Given the description of an element on the screen output the (x, y) to click on. 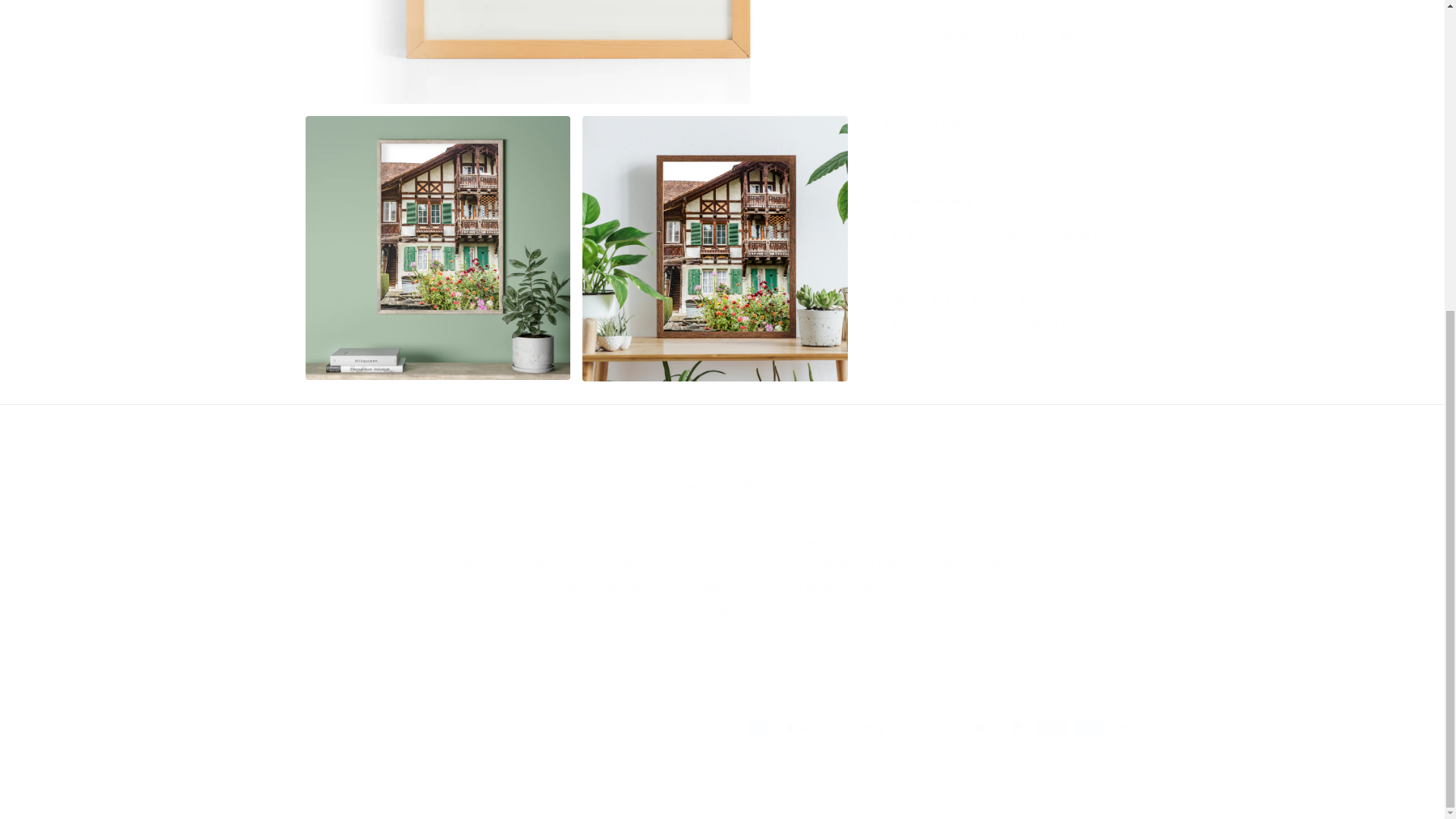
Terms of service (695, 787)
Privacy policy (617, 787)
Powered by Shopify (456, 786)
Open media 3 in modal (714, 248)
Open media 1 in modal (575, 52)
Refund policy (543, 787)
Instagram (721, 613)
Open media 2 in modal (437, 248)
Anytime Creative (376, 786)
